Given the description of an element on the screen output the (x, y) to click on. 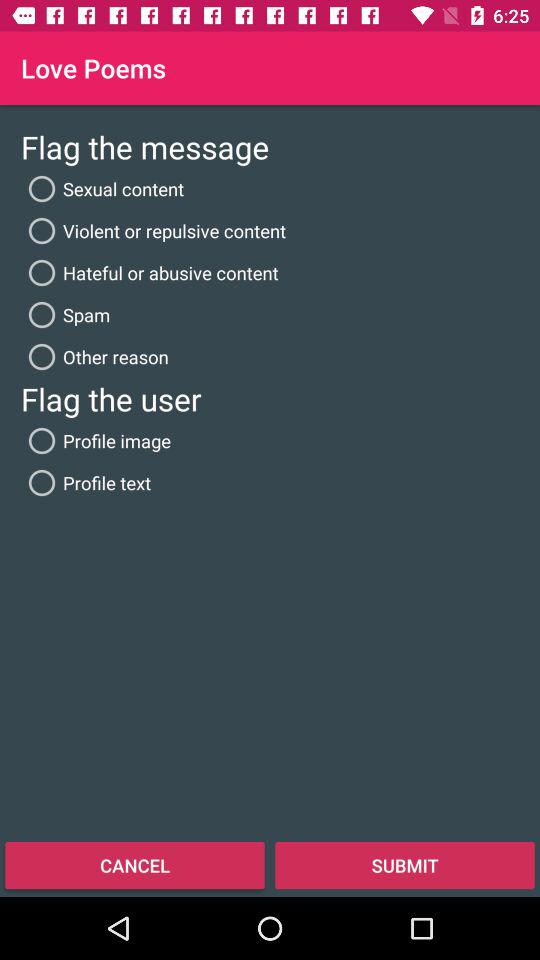
turn off icon below profile image item (86, 482)
